Given the description of an element on the screen output the (x, y) to click on. 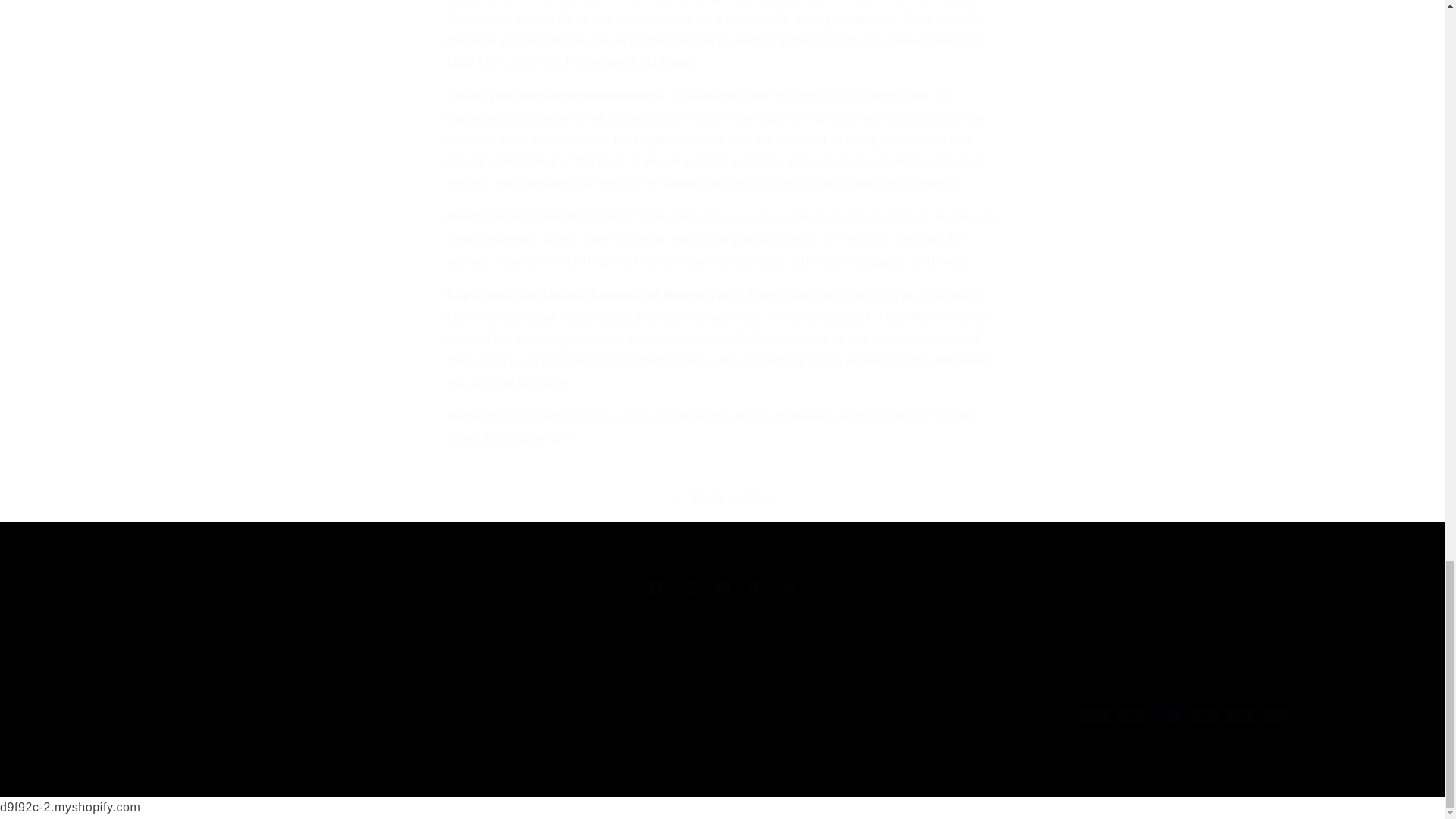
Tripping Roots store (633, 416)
